Given the description of an element on the screen output the (x, y) to click on. 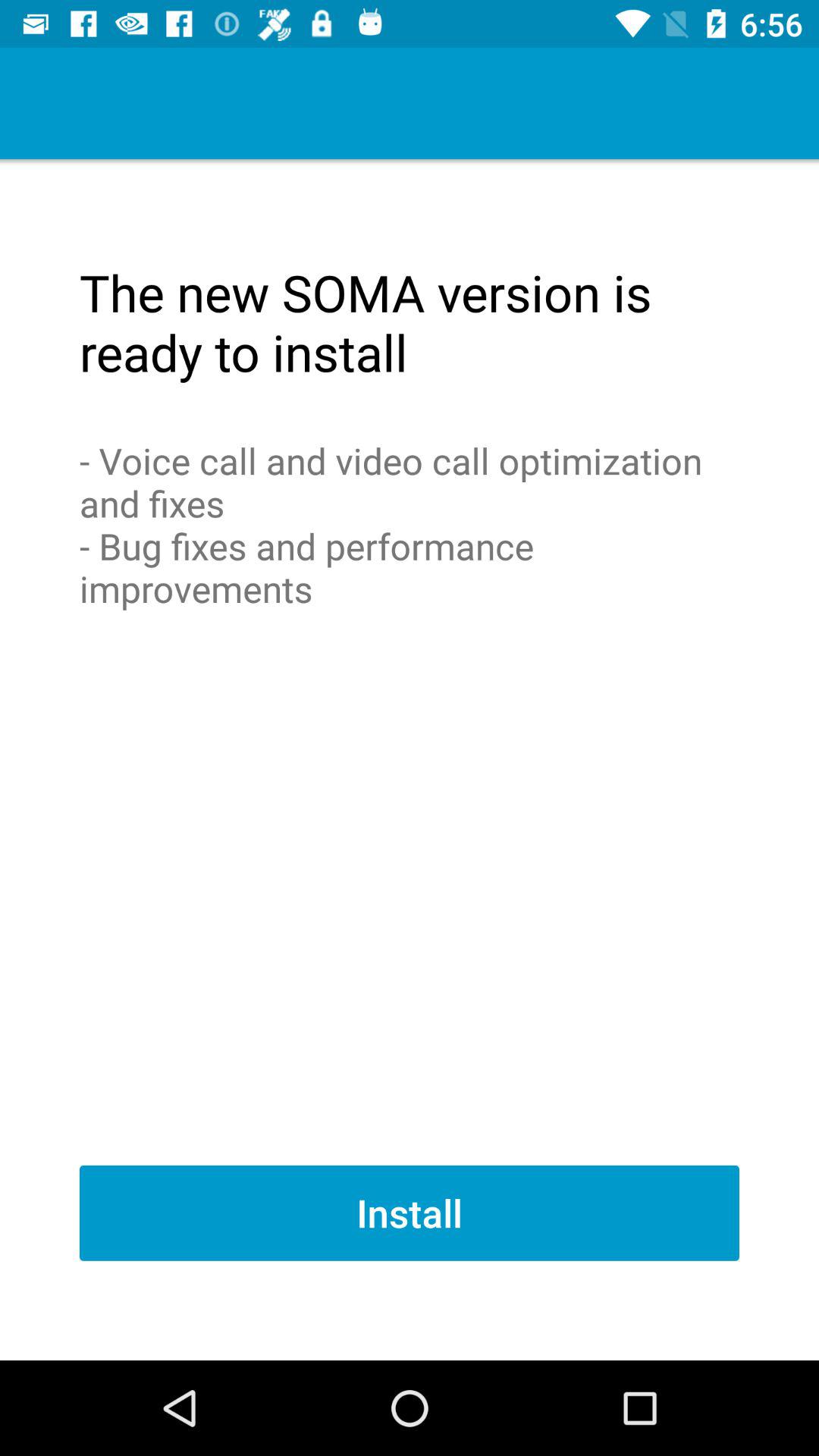
choose item below the the new soma (409, 524)
